Given the description of an element on the screen output the (x, y) to click on. 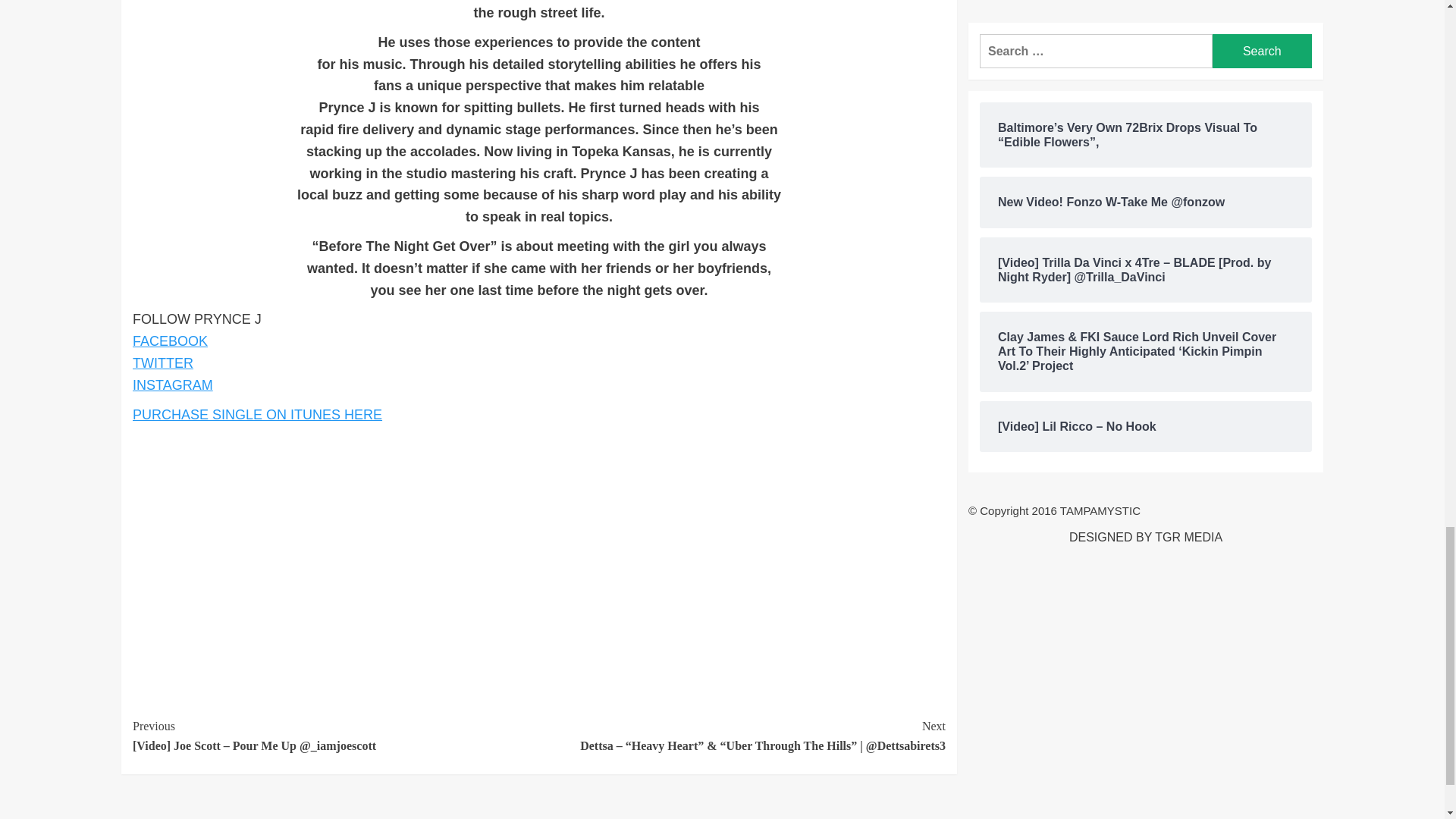
TWITTER (162, 363)
FACEBOOK (170, 340)
PURCHASE SINGLE ON ITUNES HERE (256, 414)
INSTAGRAM (172, 385)
